Given the description of an element on the screen output the (x, y) to click on. 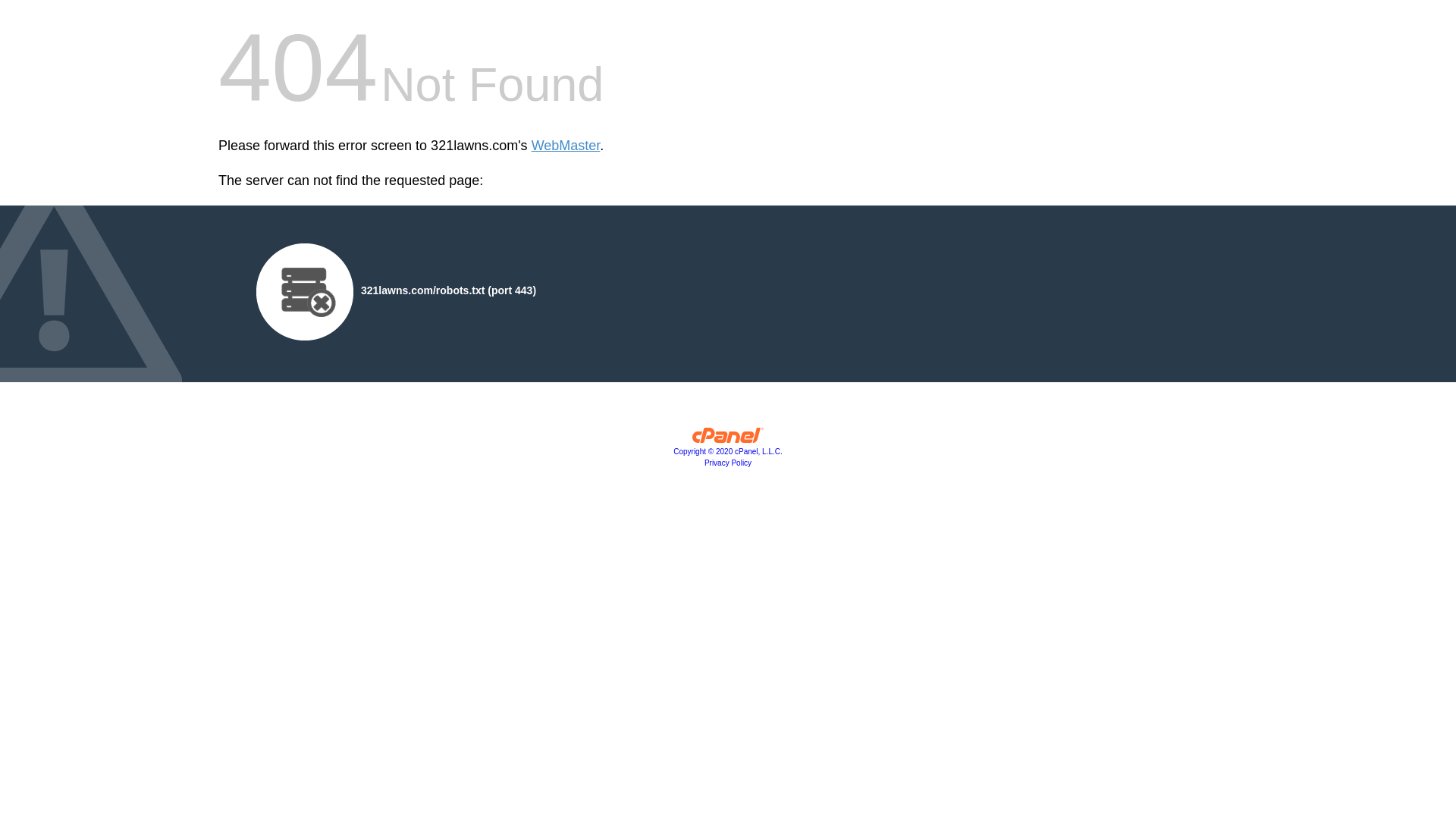
Privacy Policy Element type: text (727, 462)
cPanel, Inc. Element type: hover (728, 439)
WebMaster Element type: text (565, 145)
